Given the description of an element on the screen output the (x, y) to click on. 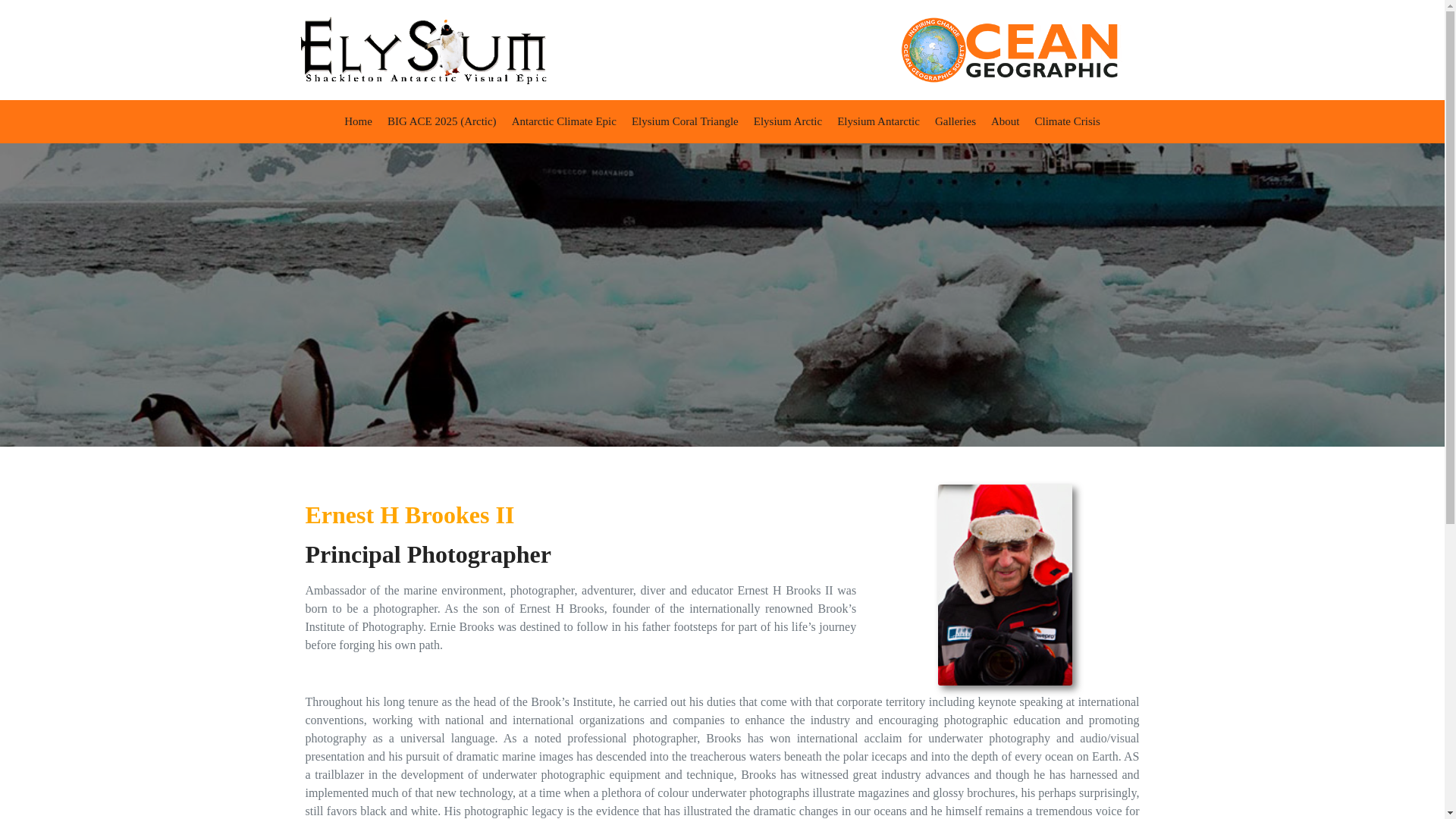
Elysium Coral Triangle (684, 121)
Home (358, 121)
Antarctic Climate Epic (563, 121)
Elysium Arctic (787, 121)
